Given the description of an element on the screen output the (x, y) to click on. 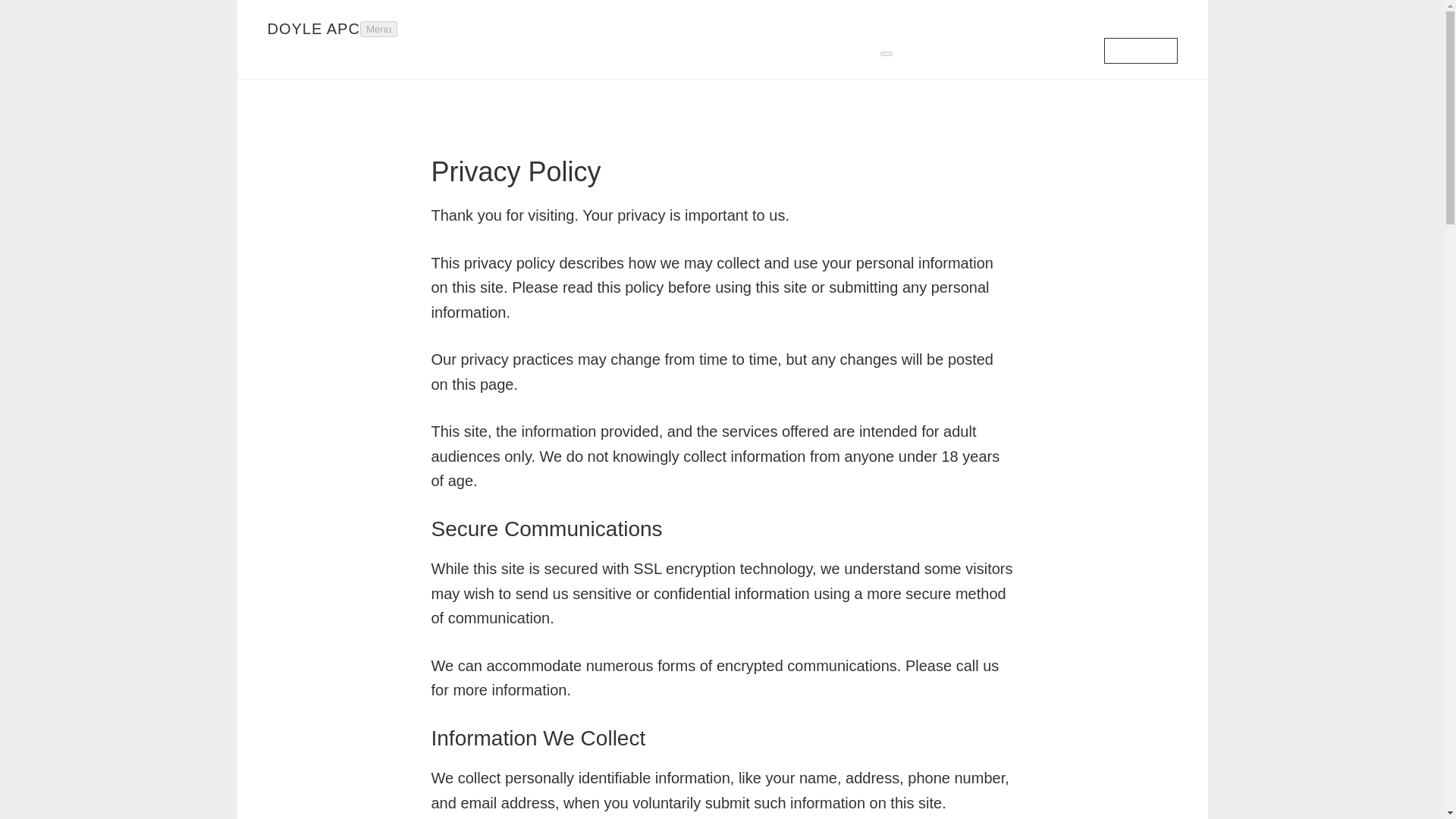
PRACTICE AREAS (932, 28)
CONTACT (1139, 50)
THE FIRM (844, 50)
Menu (378, 28)
CASES (1014, 50)
DOYLE APC (312, 28)
Submenu (886, 53)
NEWS (1066, 50)
